Given the description of an element on the screen output the (x, y) to click on. 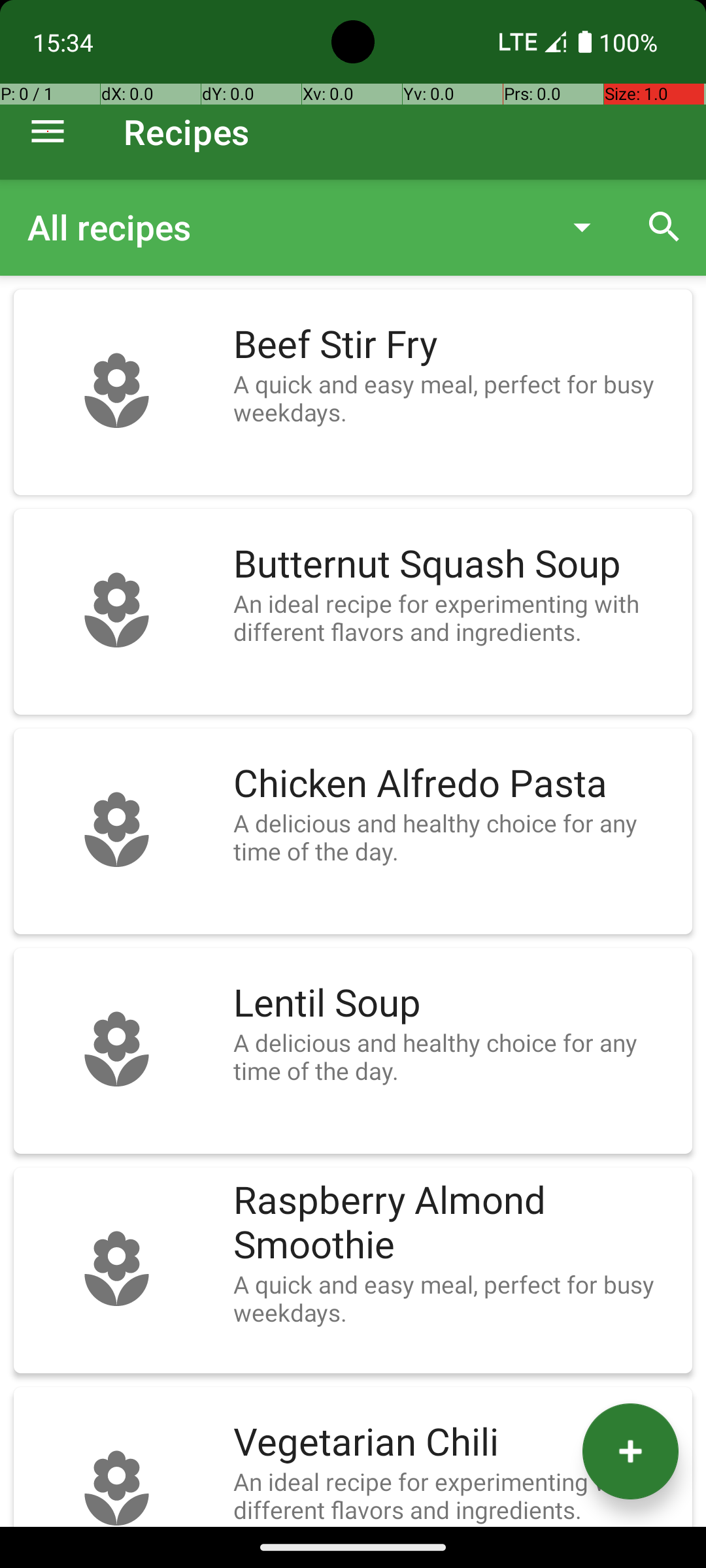
Raspberry Almond Smoothie Element type: android.widget.TextView (455, 1222)
Vegetarian Chili Element type: android.widget.TextView (455, 1442)
